Given the description of an element on the screen output the (x, y) to click on. 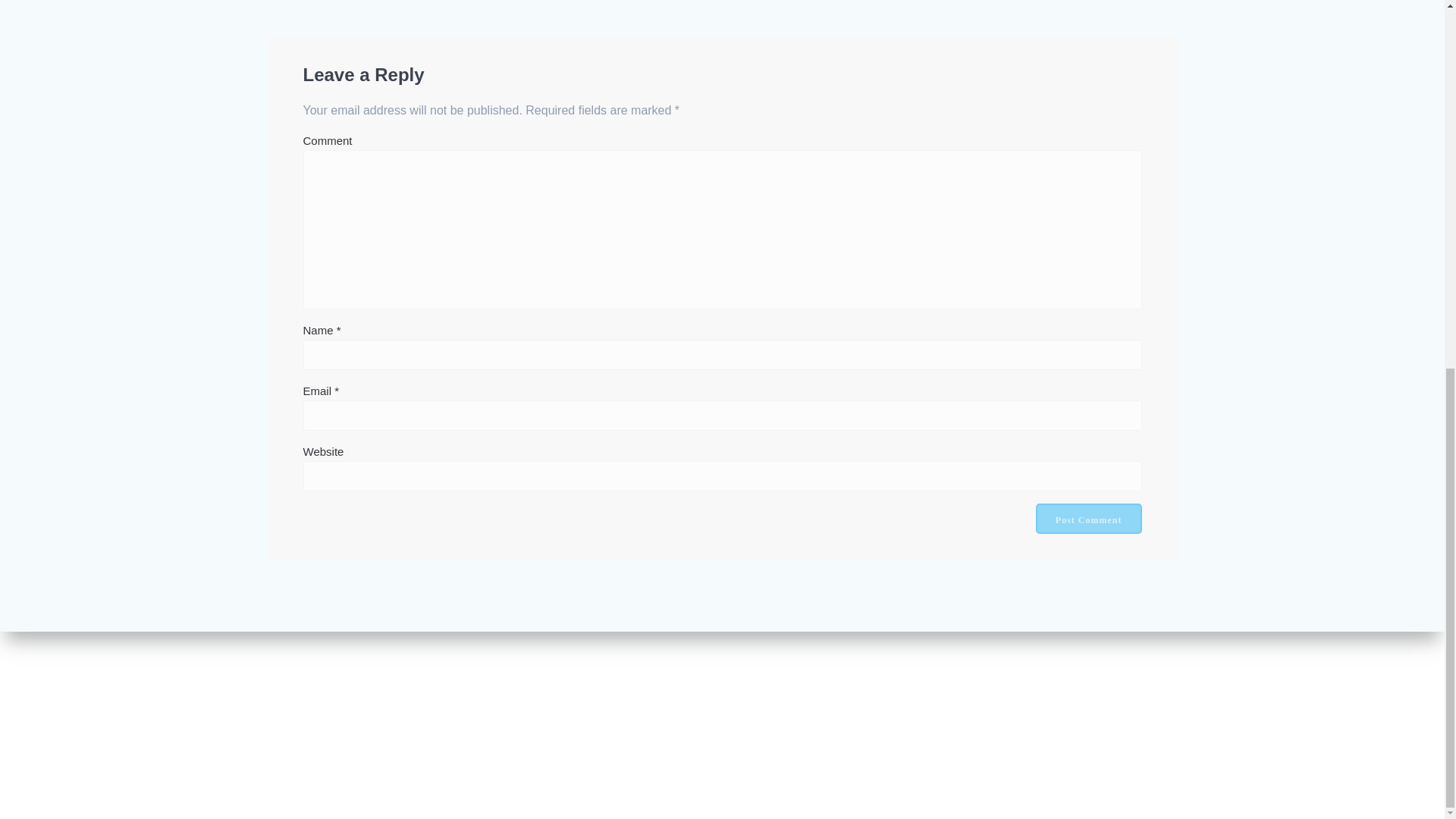
Post Comment (1088, 518)
Post Comment (1088, 518)
